Given the description of an element on the screen output the (x, y) to click on. 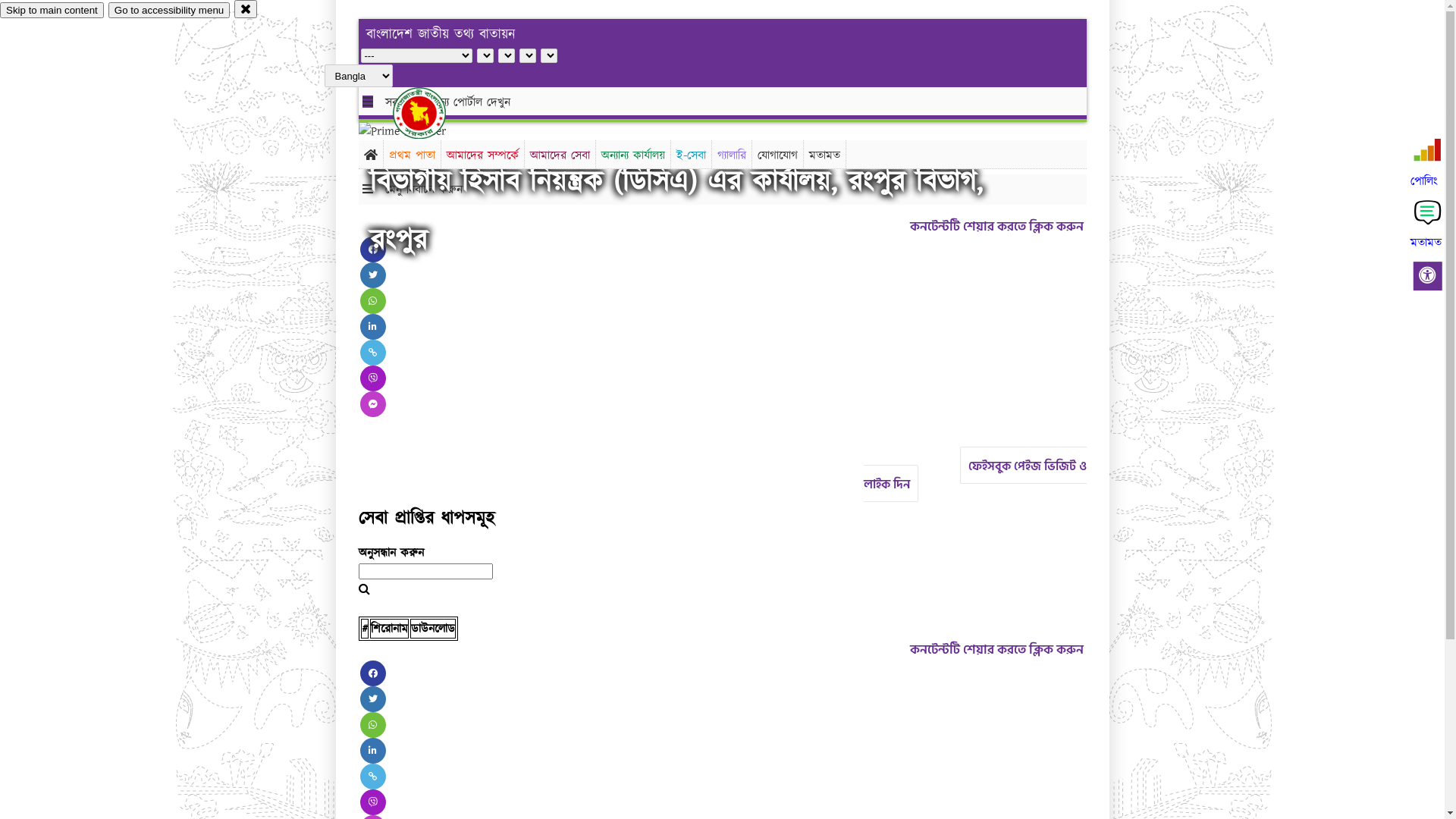
close Element type: hover (245, 9)
Skip to main content Element type: text (51, 10)
Go to accessibility menu Element type: text (168, 10)

                
             Element type: hover (431, 112)
